Given the description of an element on the screen output the (x, y) to click on. 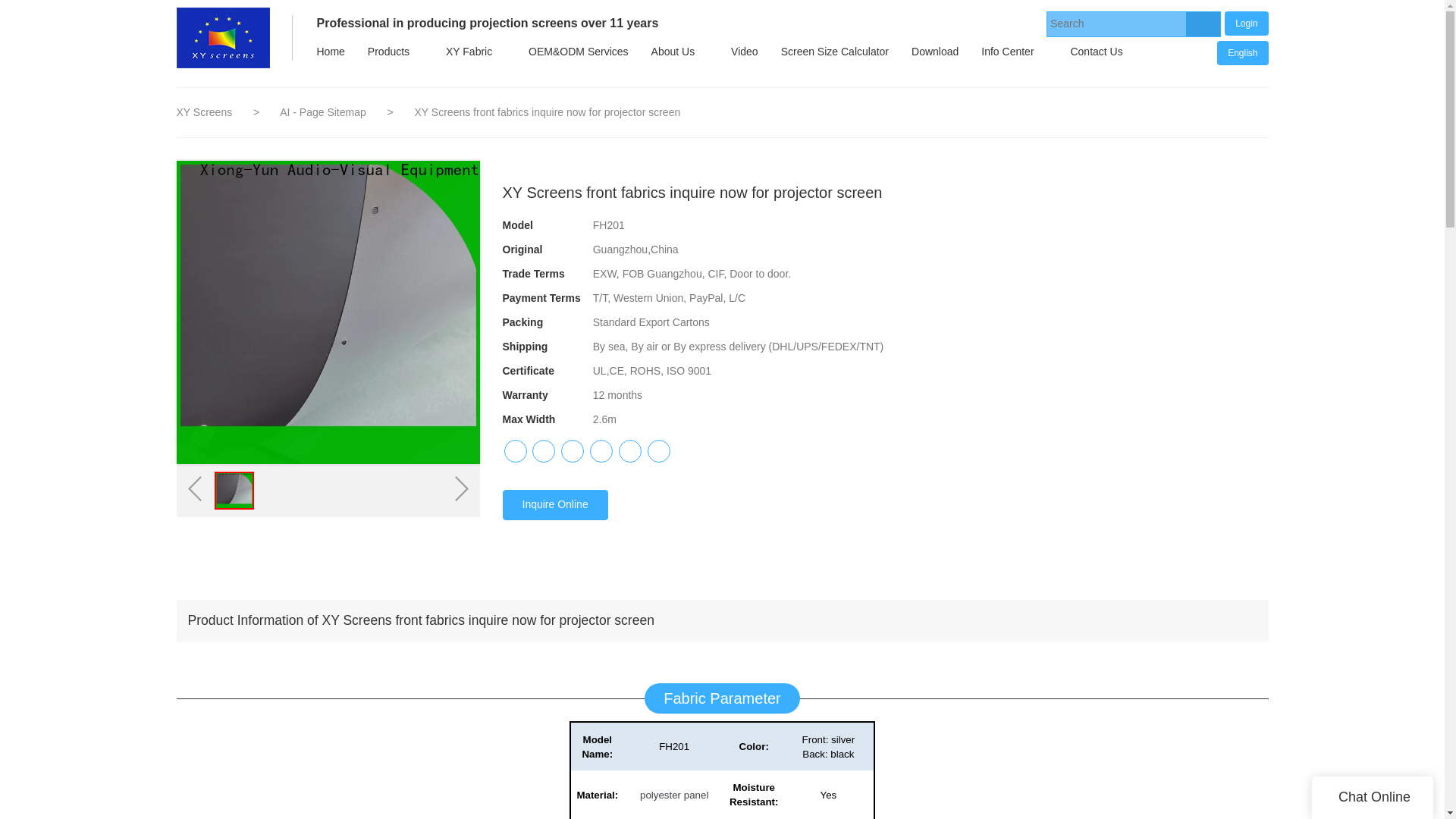
Products (388, 51)
Login (1245, 23)
Screen Size Calculator (834, 51)
XY Fabric (468, 51)
About Us (673, 51)
Home (329, 51)
Video (744, 51)
